Given the description of an element on the screen output the (x, y) to click on. 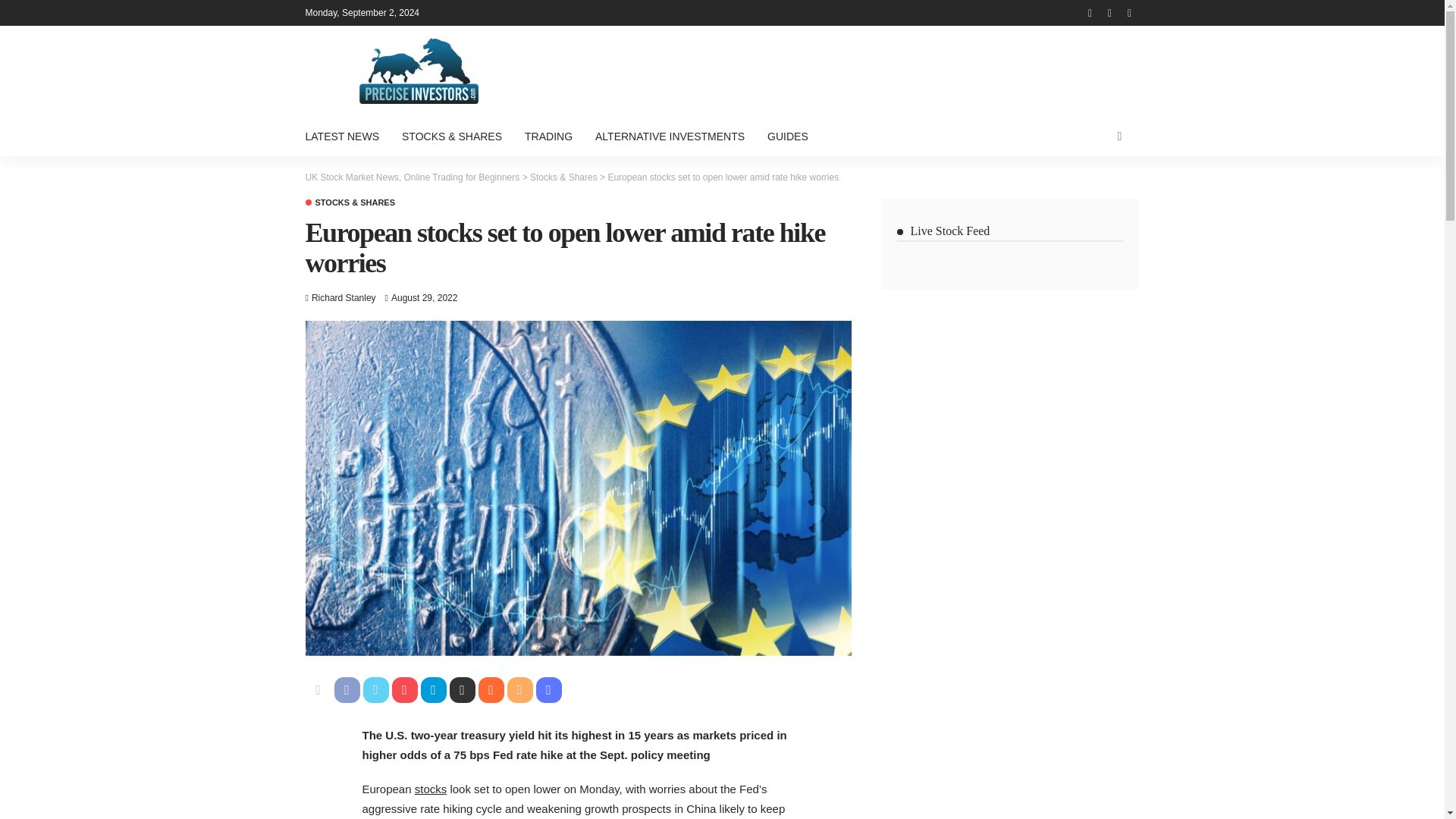
LATEST NEWS (347, 136)
TRADING (548, 136)
search (1118, 136)
UK Stock Market News, Online Trading for Beginners (411, 176)
Richard Stanley (343, 297)
ALTERNATIVE INVESTMENTS (669, 136)
GUIDES (787, 136)
stocks (430, 788)
Go to UK Stock Market News, Online Trading for Beginners. (411, 176)
